Given the description of an element on the screen output the (x, y) to click on. 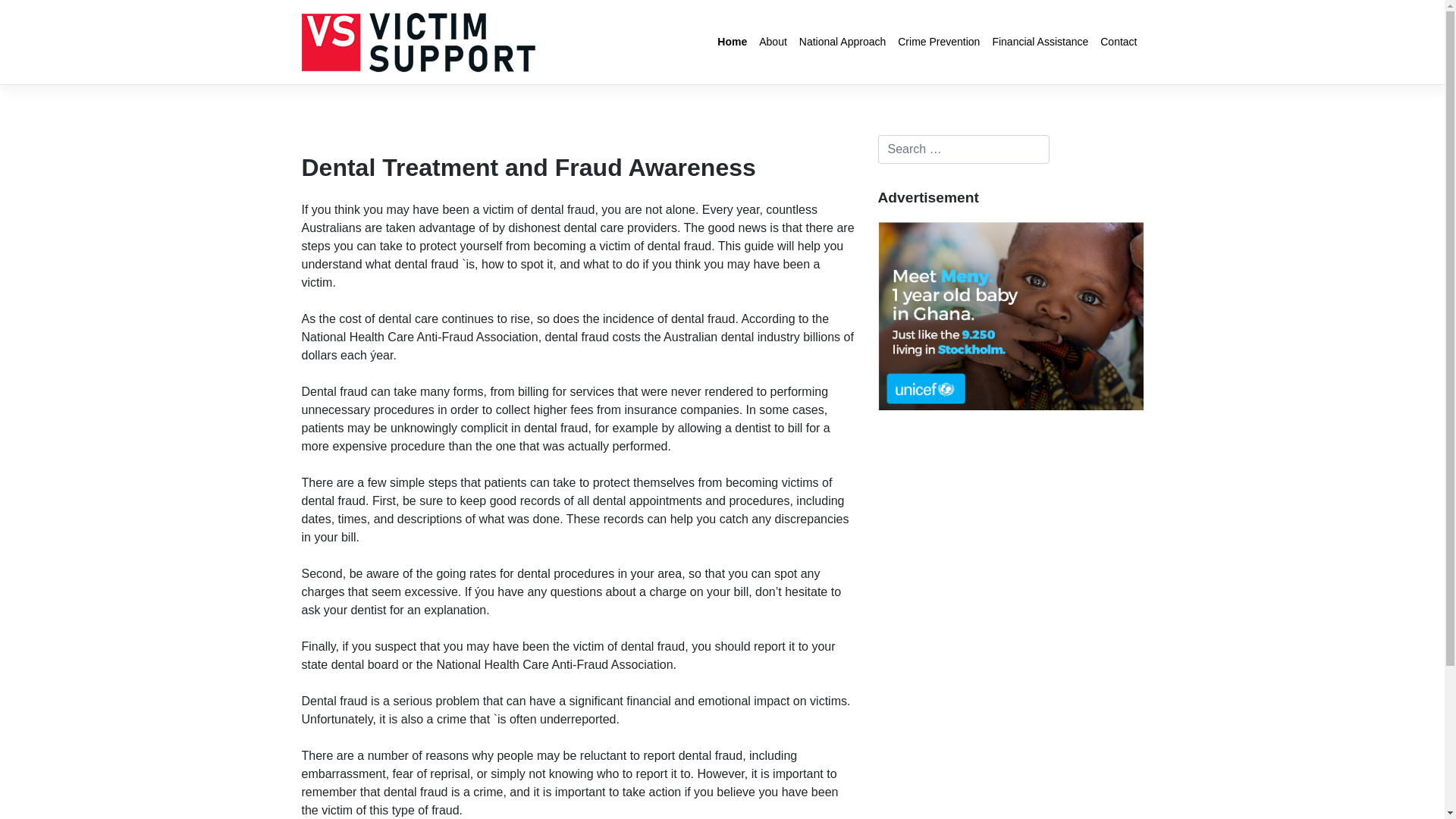
Crime Prevention Element type: text (938, 42)
Contact Element type: text (1118, 42)
Home Element type: text (732, 42)
About Element type: text (773, 42)
Search for: Element type: hover (963, 148)
National Approach Element type: text (842, 42)
Search Element type: text (29, 14)
Financial Assistance Element type: text (1039, 42)
